Given the description of an element on the screen output the (x, y) to click on. 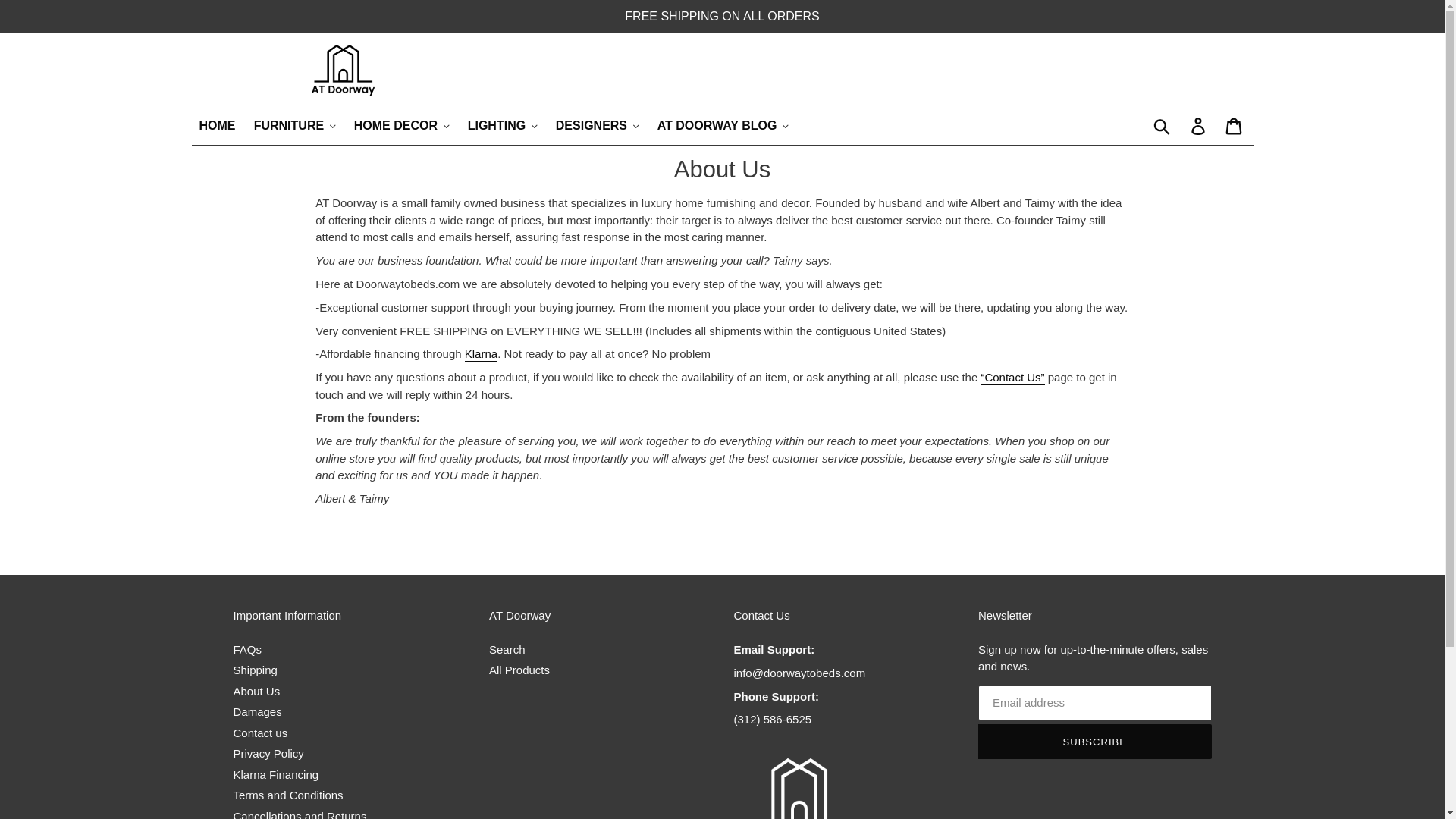
Klarna (480, 354)
HOME (216, 125)
Contact Us Page (1011, 377)
